Given the description of an element on the screen output the (x, y) to click on. 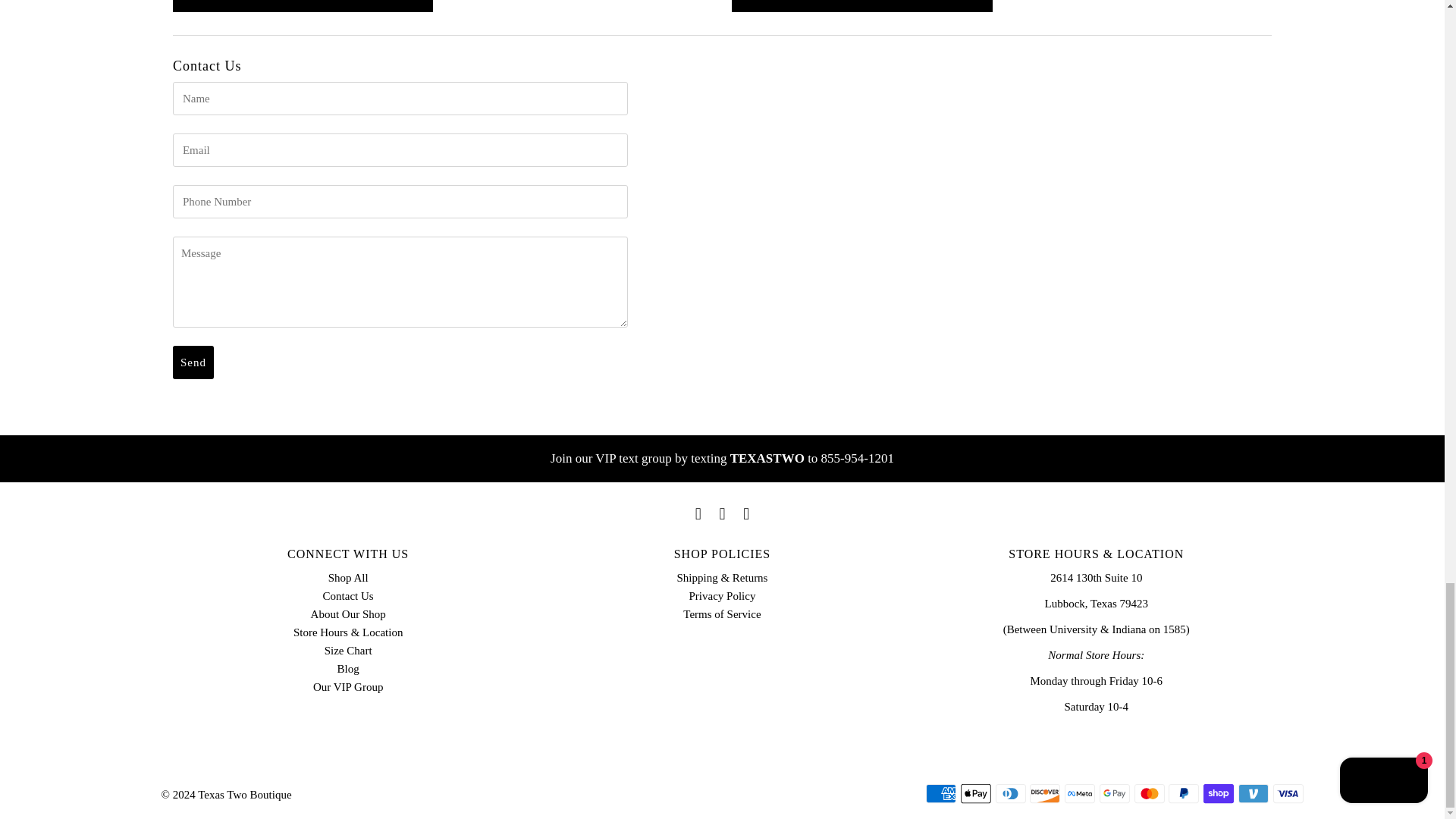
American Express (941, 793)
Meta Pay (1079, 793)
Mastercard (1149, 793)
Diners Club (1010, 793)
PayPal (1183, 793)
Shop Pay (1218, 793)
Venmo (1253, 793)
Apple Pay (975, 793)
Send (193, 362)
Visa (1287, 793)
Google Pay (1114, 793)
Discover (1044, 793)
